Given the description of an element on the screen output the (x, y) to click on. 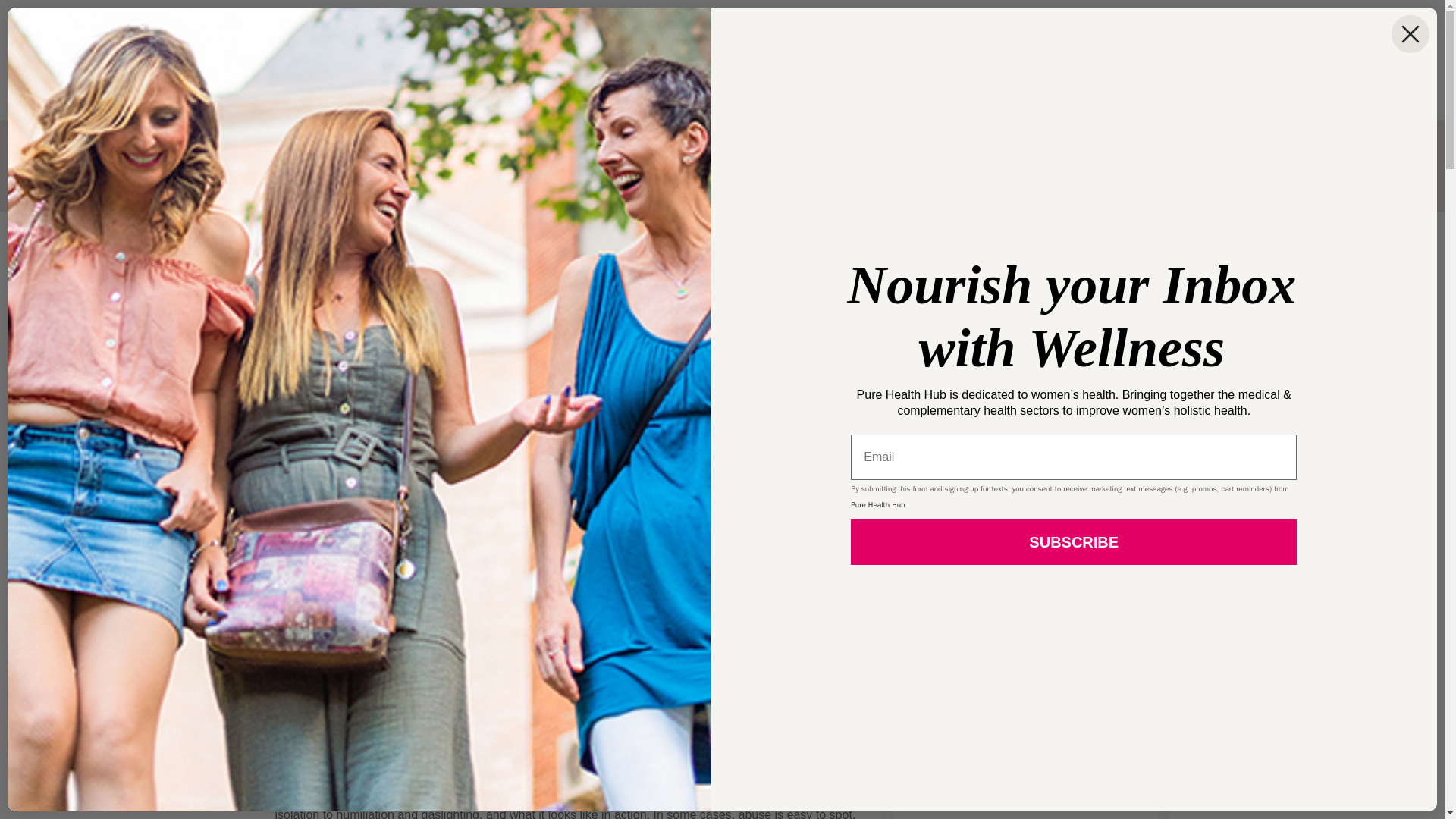
Advertisement (1024, 335)
Close dialog 2 (1410, 34)
